Given the description of an element on the screen output the (x, y) to click on. 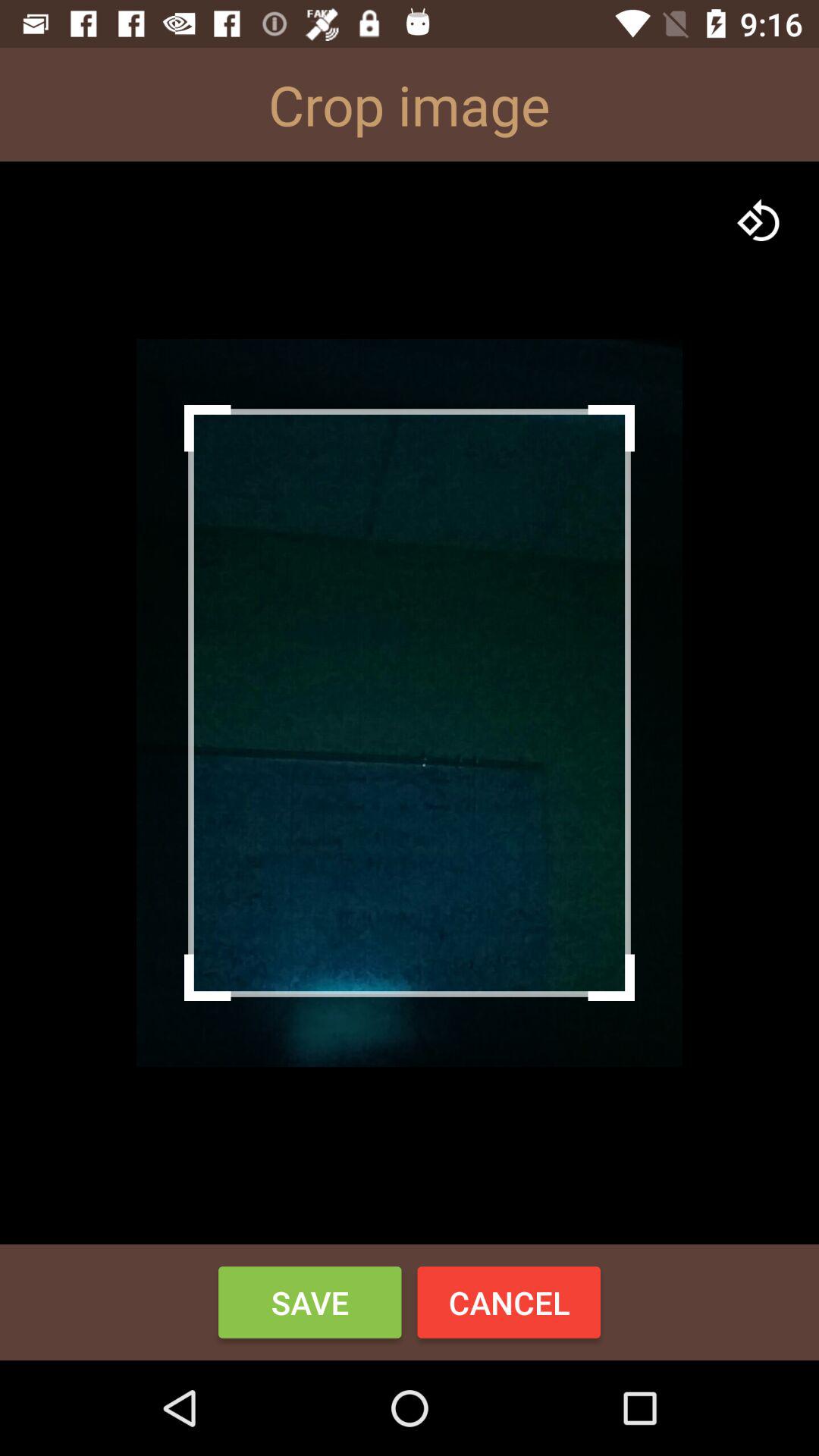
open the button to the right of save (508, 1302)
